Given the description of an element on the screen output the (x, y) to click on. 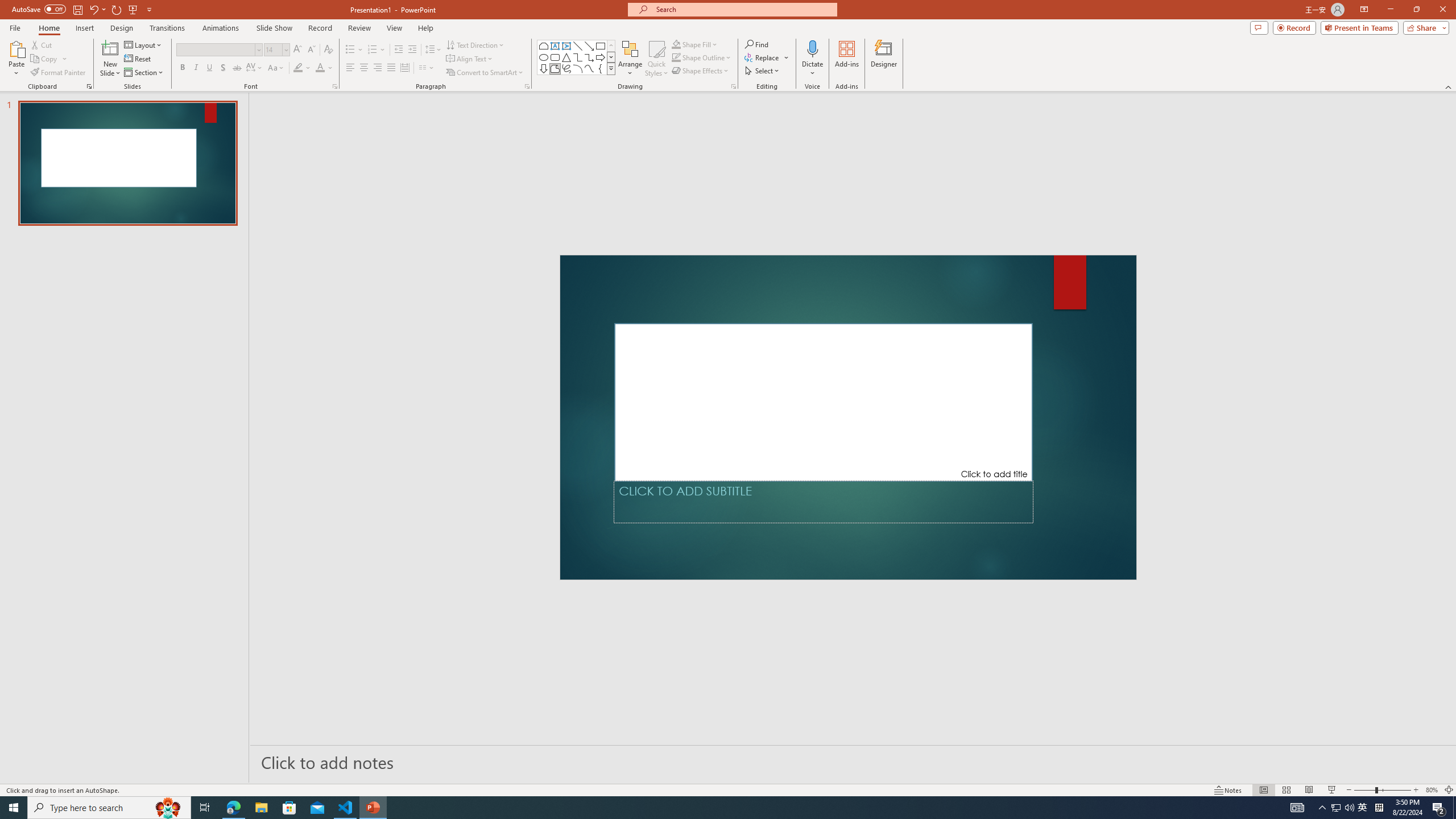
Isosceles Triangle (566, 57)
Freeform: Shape (554, 68)
Text Highlight Color (302, 67)
Class: MsoCommandBar (728, 789)
Subtitle TextBox (822, 501)
